Given the description of an element on the screen output the (x, y) to click on. 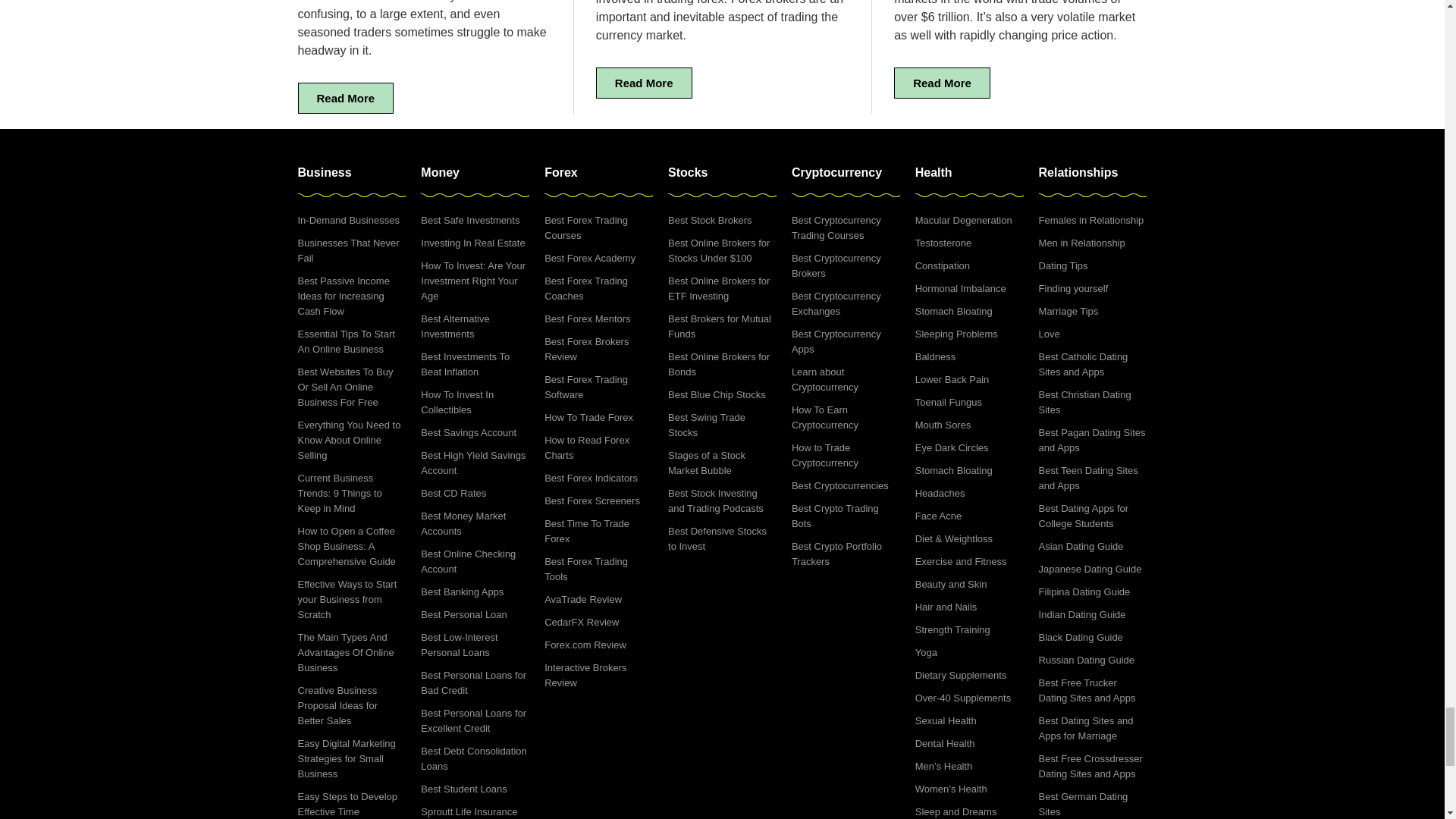
In-Demand Businesses (351, 220)
Read More (644, 82)
Read More (941, 82)
Business (323, 172)
Read More (345, 97)
